Given the description of an element on the screen output the (x, y) to click on. 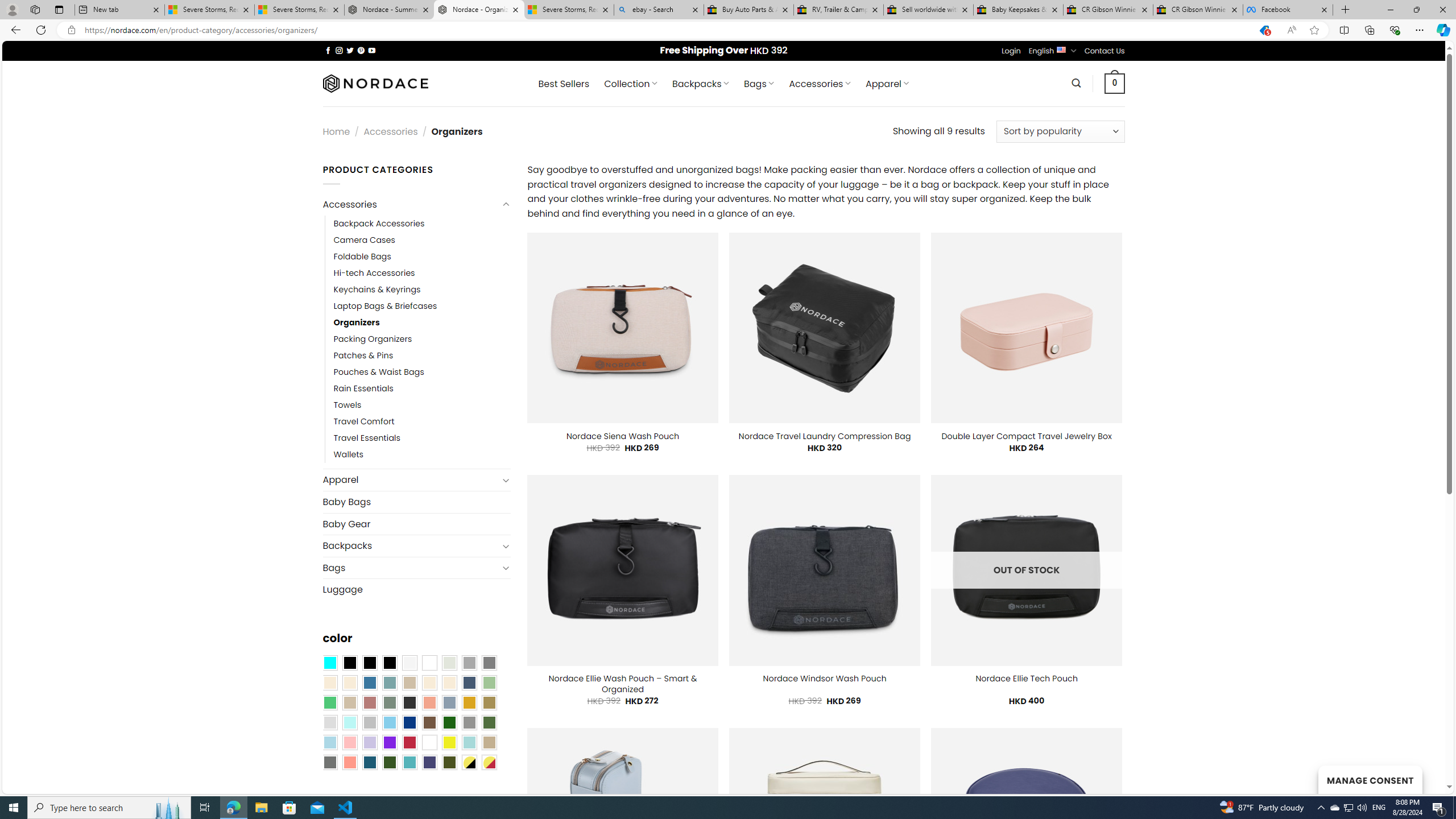
Yellow (449, 741)
Sky Blue (389, 721)
Charcoal (408, 702)
Nordace Siena Wash Pouch (622, 436)
Backpack Accessories (379, 222)
Black-Brown (389, 662)
Gray (468, 721)
Nordace Ellie Tech Pouch (1026, 678)
This site has coupons! Shopping in Microsoft Edge, 5 (1263, 29)
Nordace (374, 83)
Coral (429, 702)
Travel Essentials (366, 438)
Kelp (488, 702)
Hi-tech Accessories (422, 272)
